Given the description of an element on the screen output the (x, y) to click on. 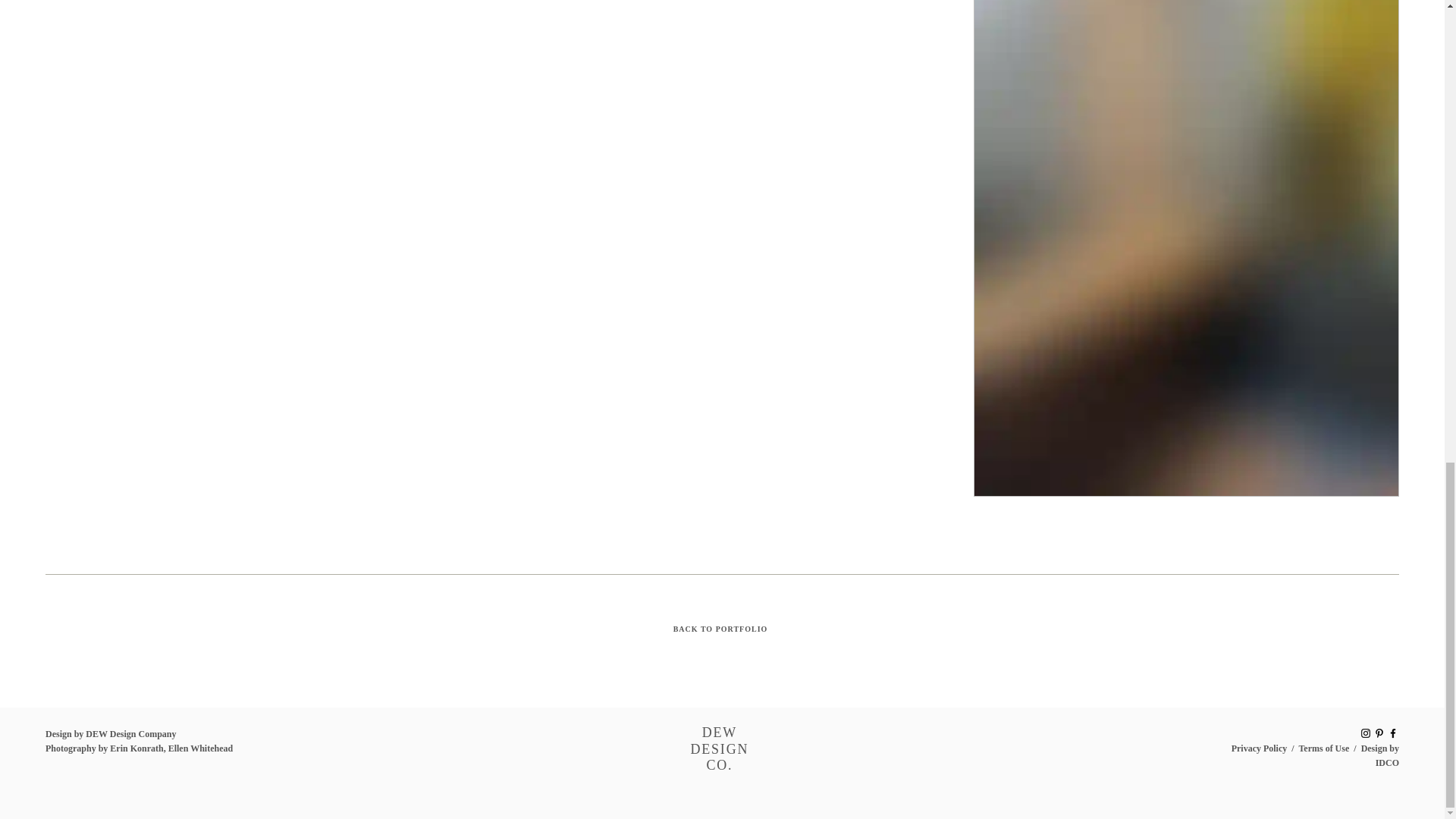
BACK TO PORTFOLIO (722, 628)
Privacy Policy (1259, 747)
Terms of Use (1323, 747)
DEW DESIGN CO. (719, 748)
IDCO (1387, 762)
Erin Konrath, Ellen Whitehead (171, 747)
